Given the description of an element on the screen output the (x, y) to click on. 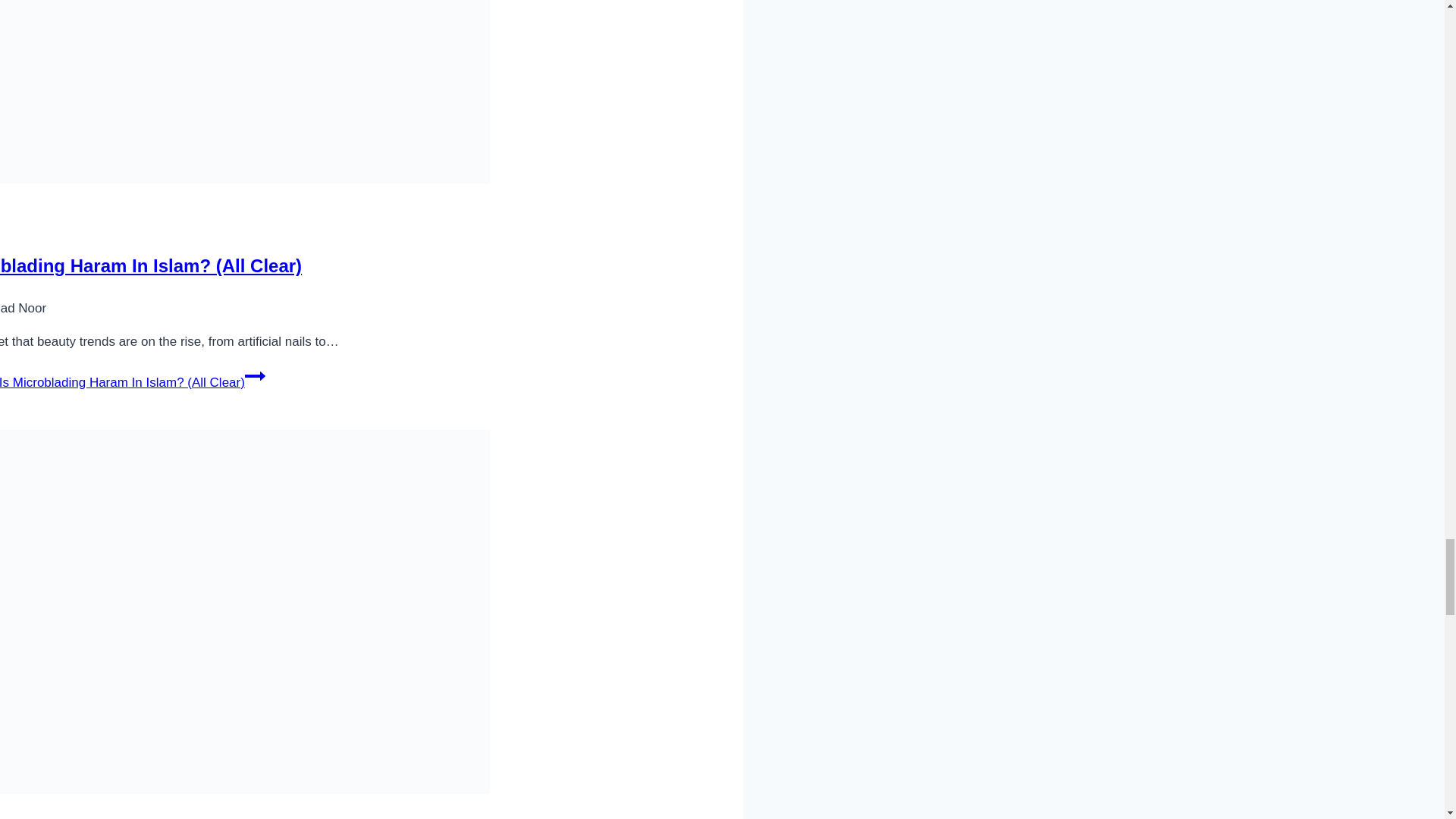
Continue (254, 375)
